Given the description of an element on the screen output the (x, y) to click on. 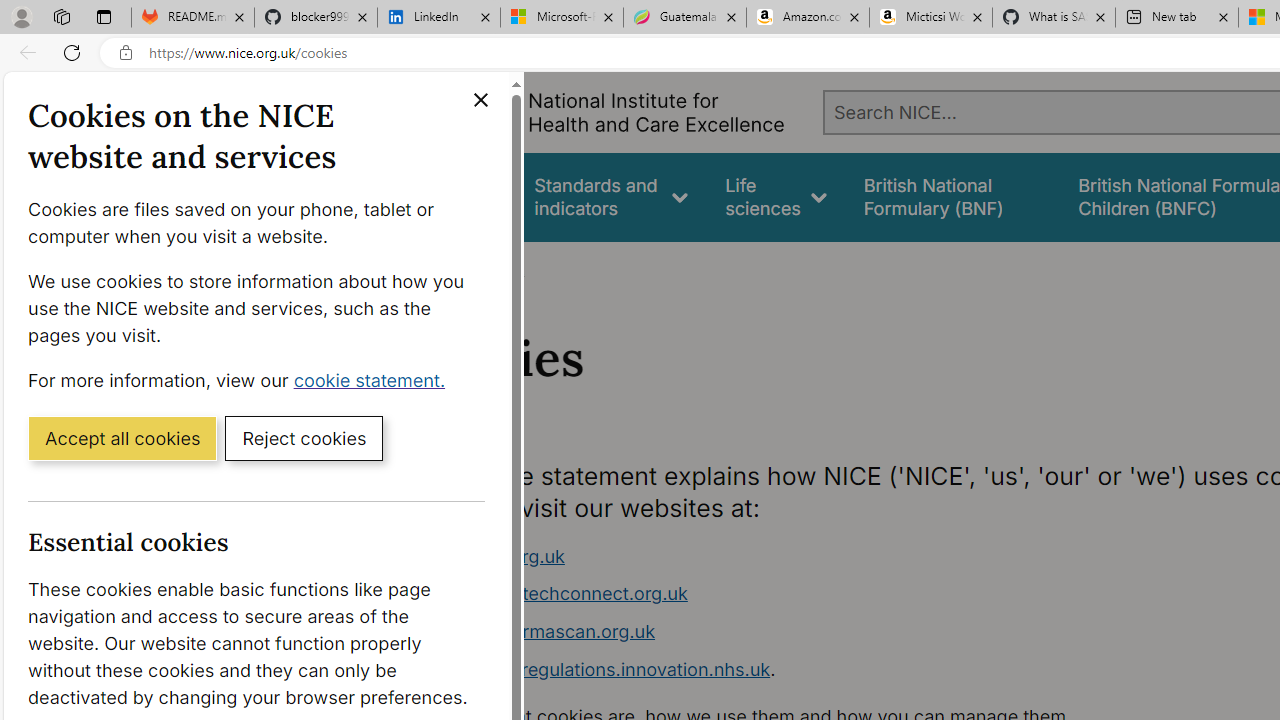
Reject cookies (304, 437)
www.nice.org.uk (492, 556)
www.healthtechconnect.org.uk (554, 593)
cookie statement. (Opens in a new window) (373, 379)
